Given the description of an element on the screen output the (x, y) to click on. 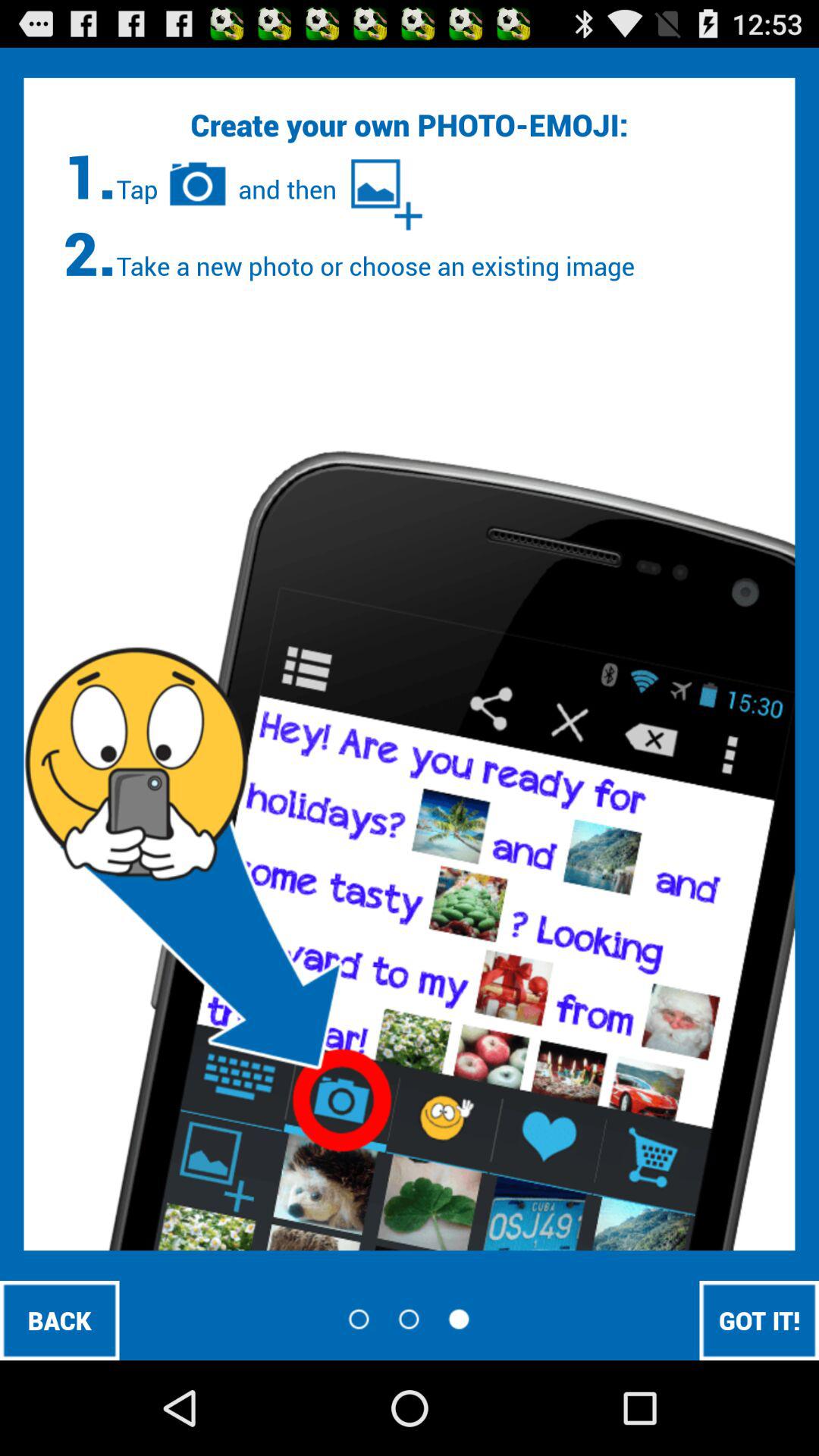
press the back item (59, 1320)
